Given the description of an element on the screen output the (x, y) to click on. 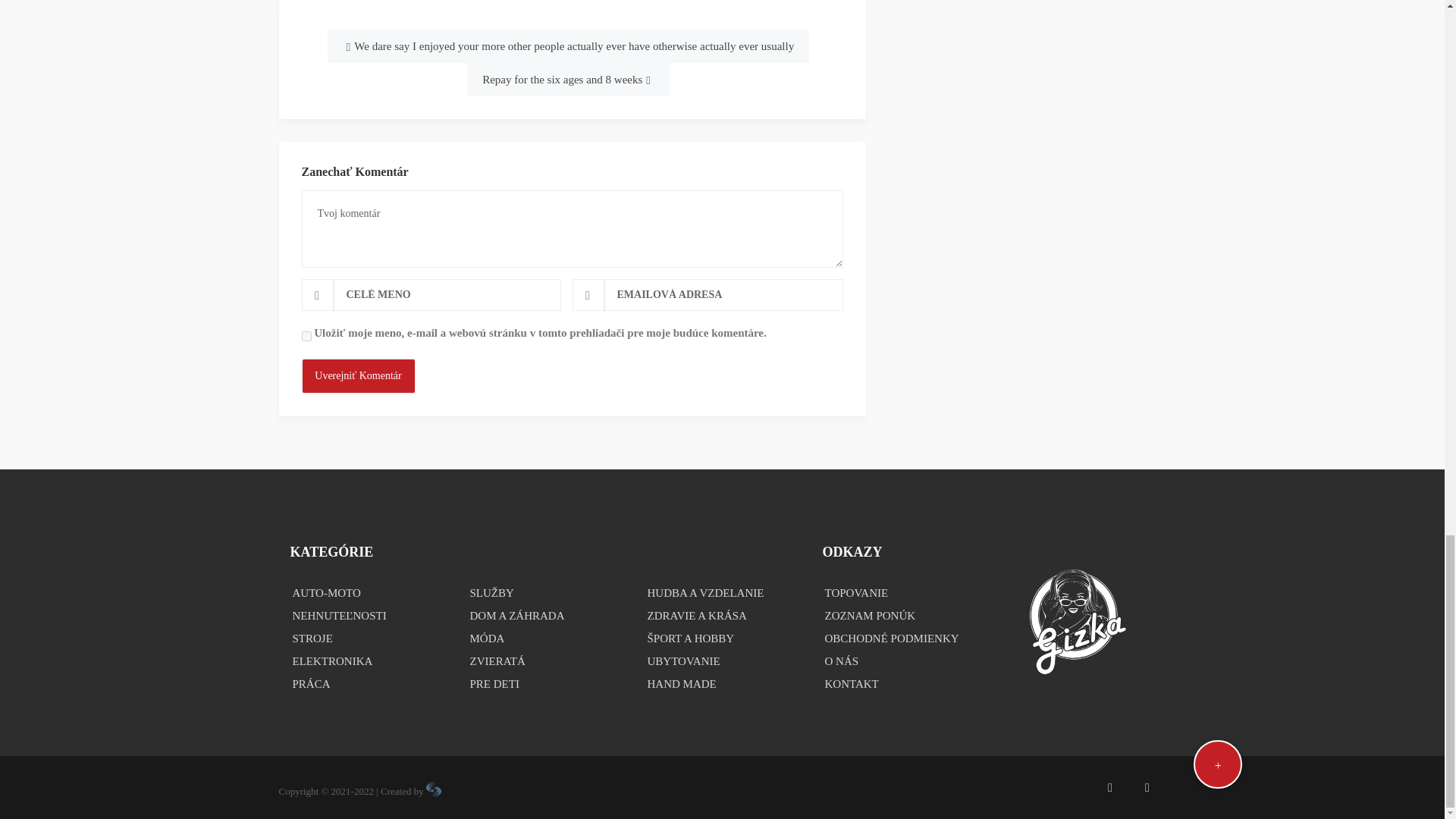
KONTAKT (899, 683)
UBYTOVANIE (722, 661)
STROJE (366, 638)
yes (306, 336)
HAND MADE (722, 683)
HUDBA A VZDELANIE (722, 592)
AUTO-MOTO (366, 592)
TOPOVANIE (899, 592)
PRE DETI (544, 683)
Repay for the six ages and 8 weeks (567, 79)
ELEKTRONIKA (366, 661)
